Given the description of an element on the screen output the (x, y) to click on. 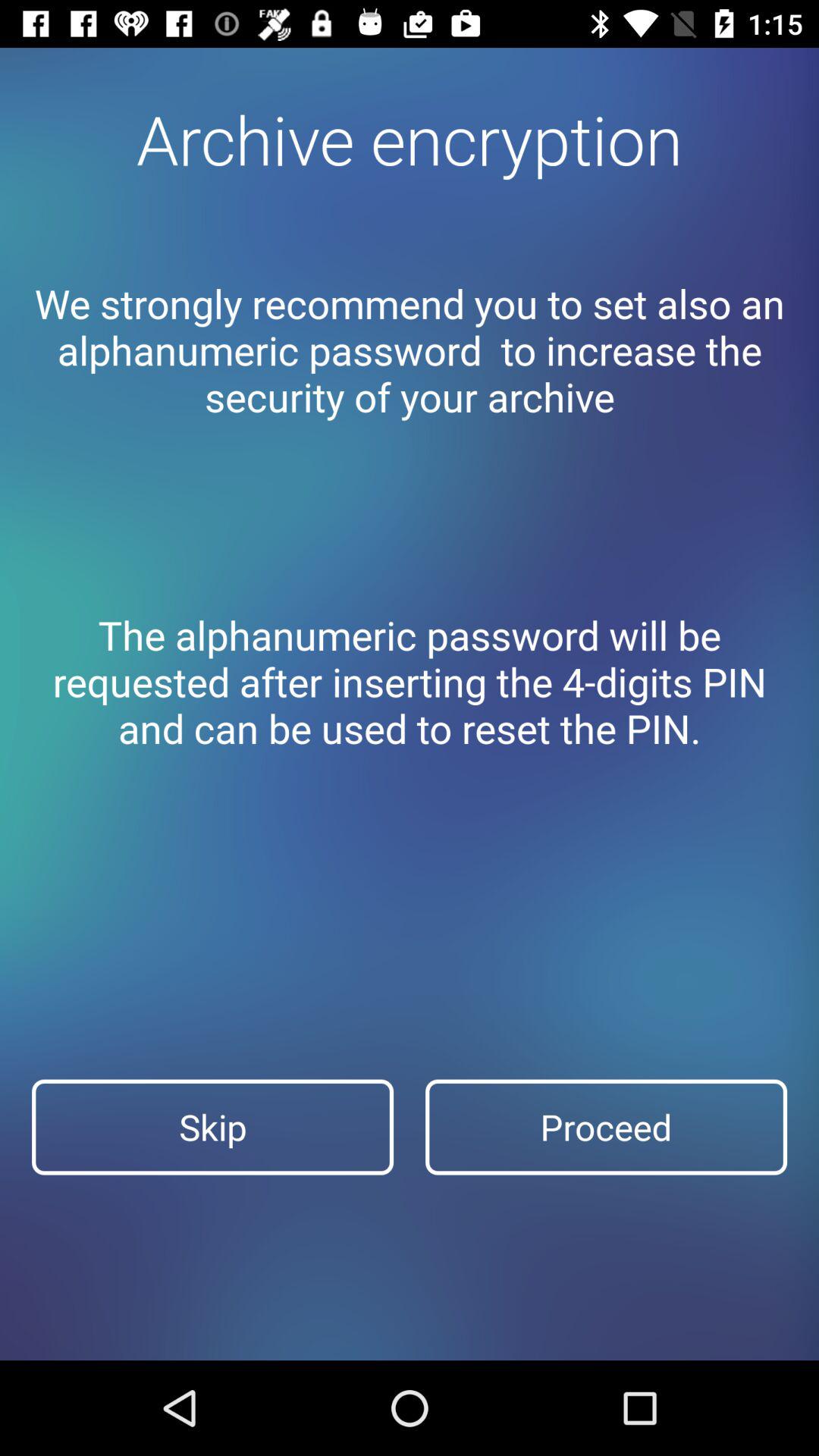
press the item next to the skip item (606, 1127)
